Given the description of an element on the screen output the (x, y) to click on. 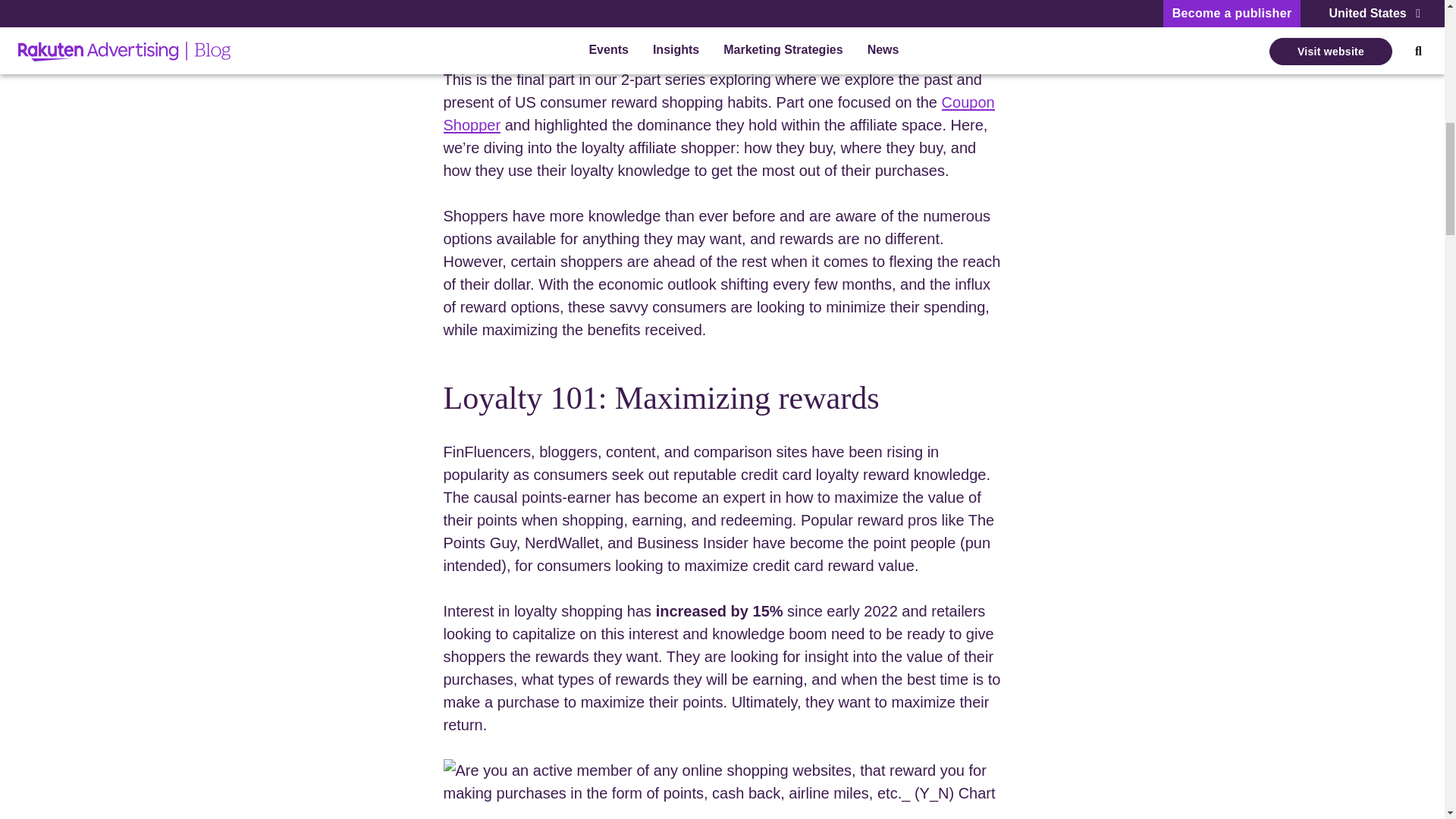
Coupon Shopper (718, 113)
